Given the description of an element on the screen output the (x, y) to click on. 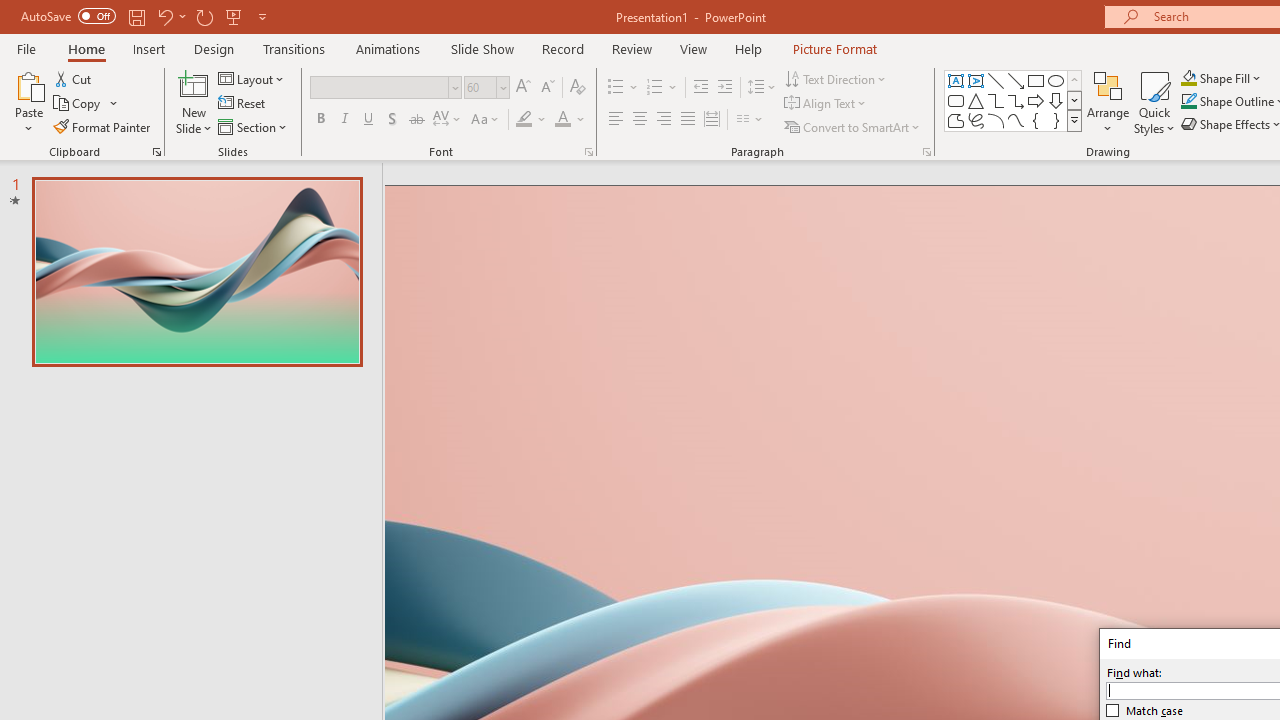
Distributed (712, 119)
Match case (1145, 710)
Underline (369, 119)
Columns (750, 119)
Shape Fill Orange, Accent 2 (1188, 78)
Vertical Text Box (975, 80)
Font... (588, 151)
